Given the description of an element on the screen output the (x, y) to click on. 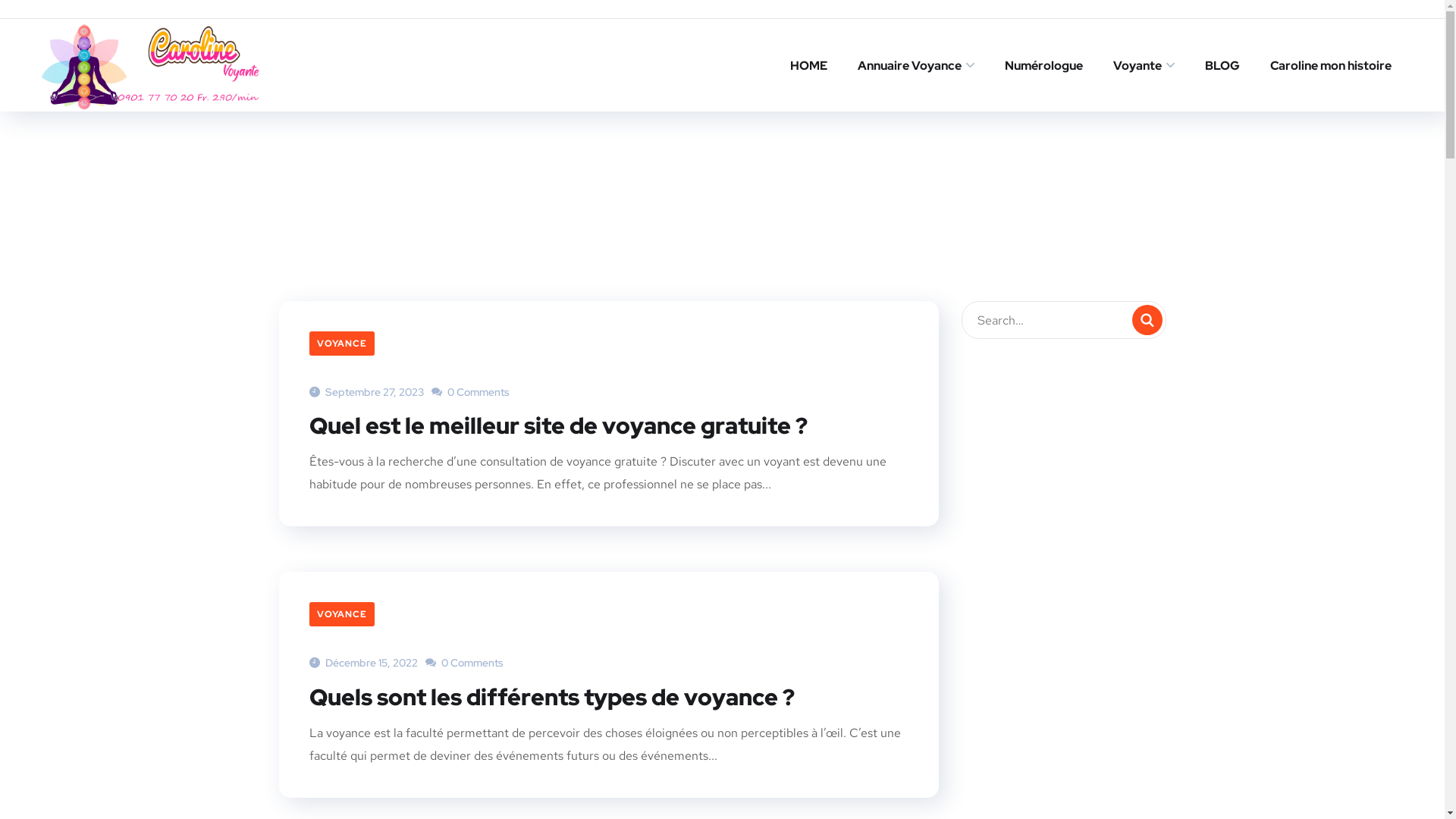
VOYANCE Element type: text (341, 343)
0 Comments Element type: text (463, 662)
Voyante Element type: text (1143, 65)
0 Comments Element type: text (469, 391)
VOYANCE Element type: text (341, 614)
HOME Element type: text (808, 65)
Quel est le meilleur site de voyance gratuite ? Element type: text (558, 425)
Caroline mon histoire Element type: text (1330, 65)
Septembre 27, 2023 Element type: text (366, 391)
BLOG Element type: text (1221, 65)
Annuaire Voyance Element type: text (915, 65)
